Given the description of an element on the screen output the (x, y) to click on. 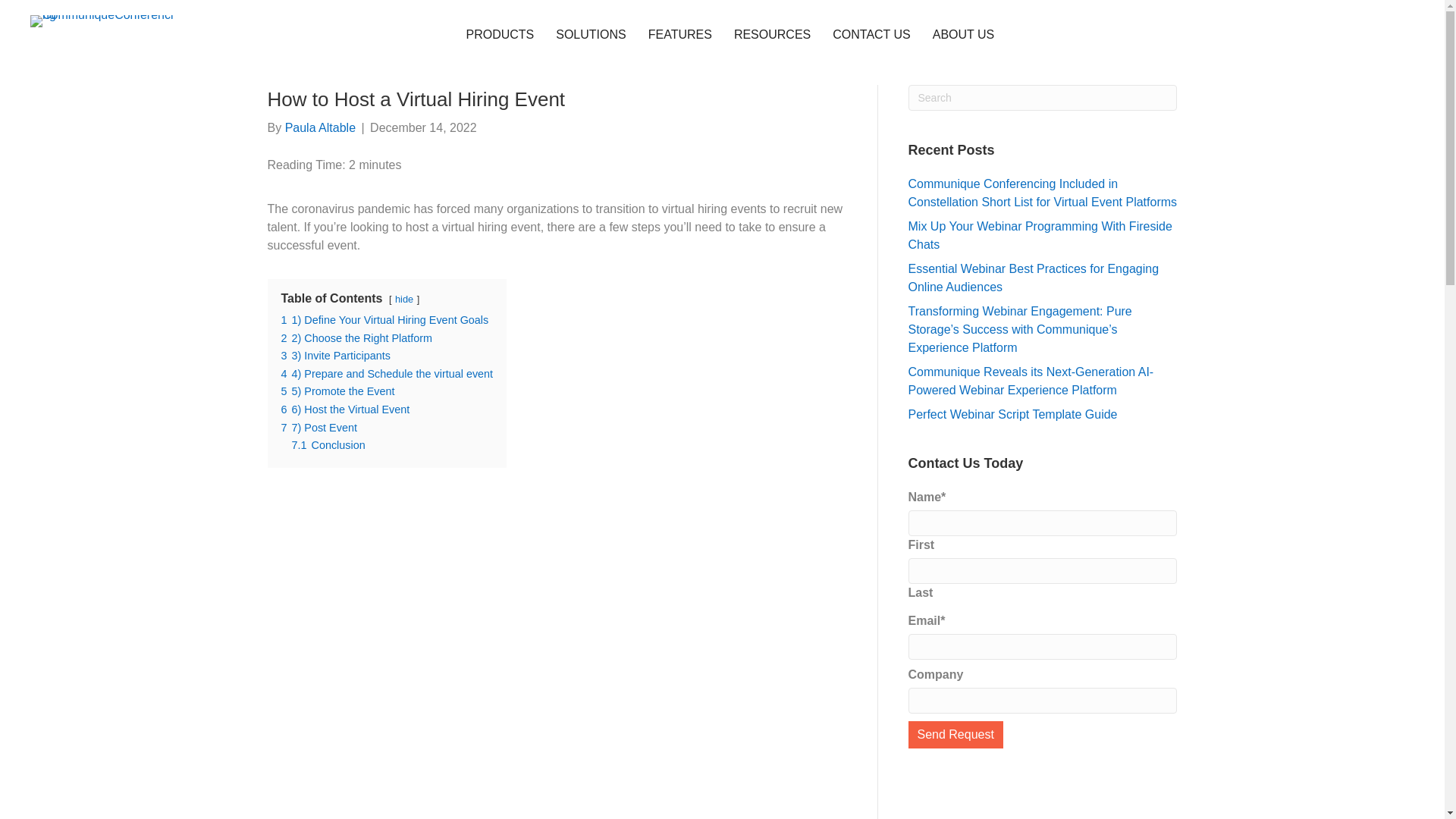
CommuniqueConferencing (101, 21)
SOLUTIONS (590, 34)
FEATURES (679, 34)
PRODUCTS (499, 34)
Type and press Enter to search. (1042, 97)
Send Request (955, 734)
RESOURCES (772, 34)
